Given the description of an element on the screen output the (x, y) to click on. 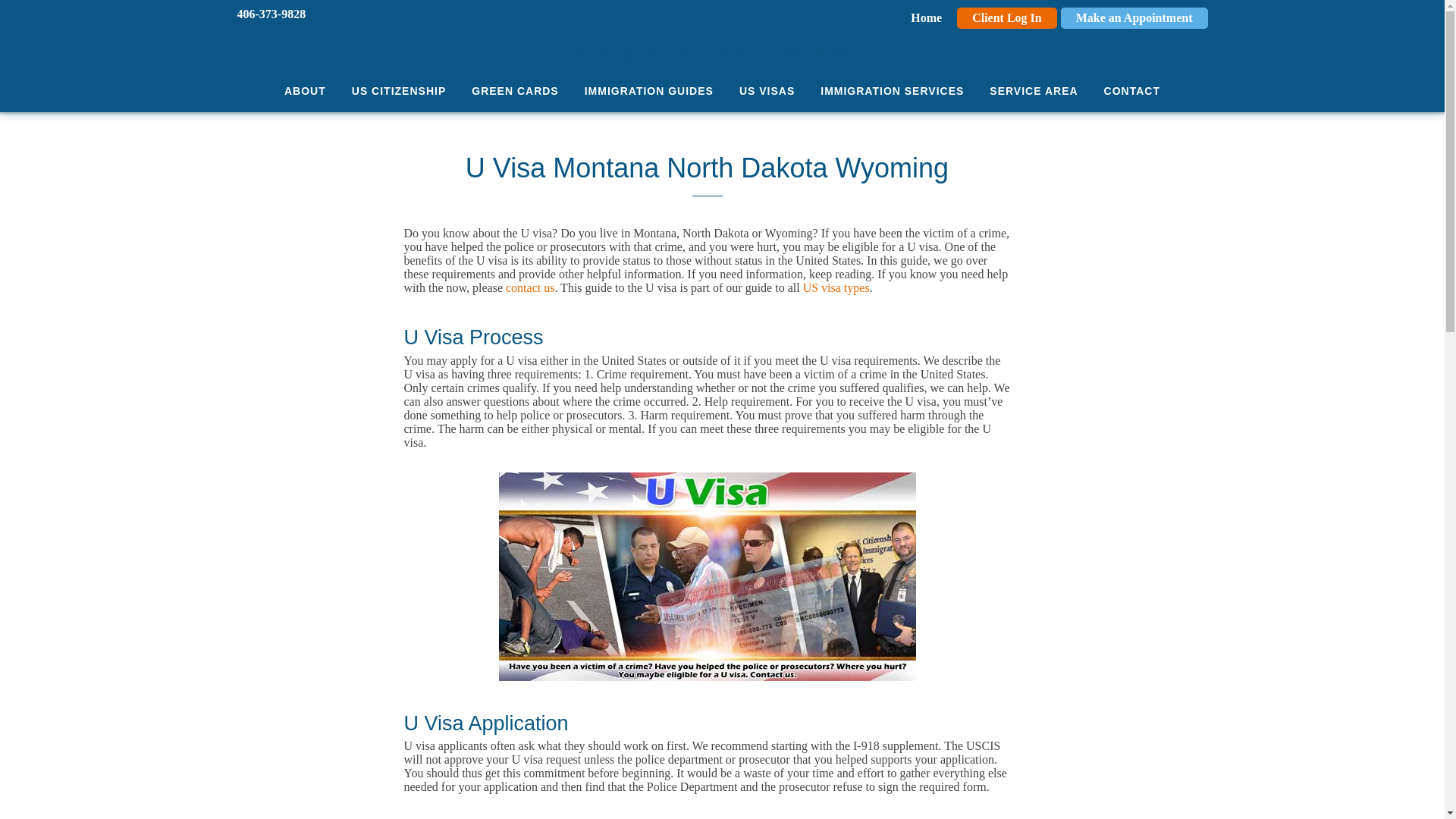
US CITIZENSHIP (398, 90)
GREEN CARDS (514, 90)
Home (926, 17)
ABOUT (305, 90)
Client Log In (1007, 17)
Immigration Law of Montana (721, 36)
Make an Appointment (1133, 17)
